Given the description of an element on the screen output the (x, y) to click on. 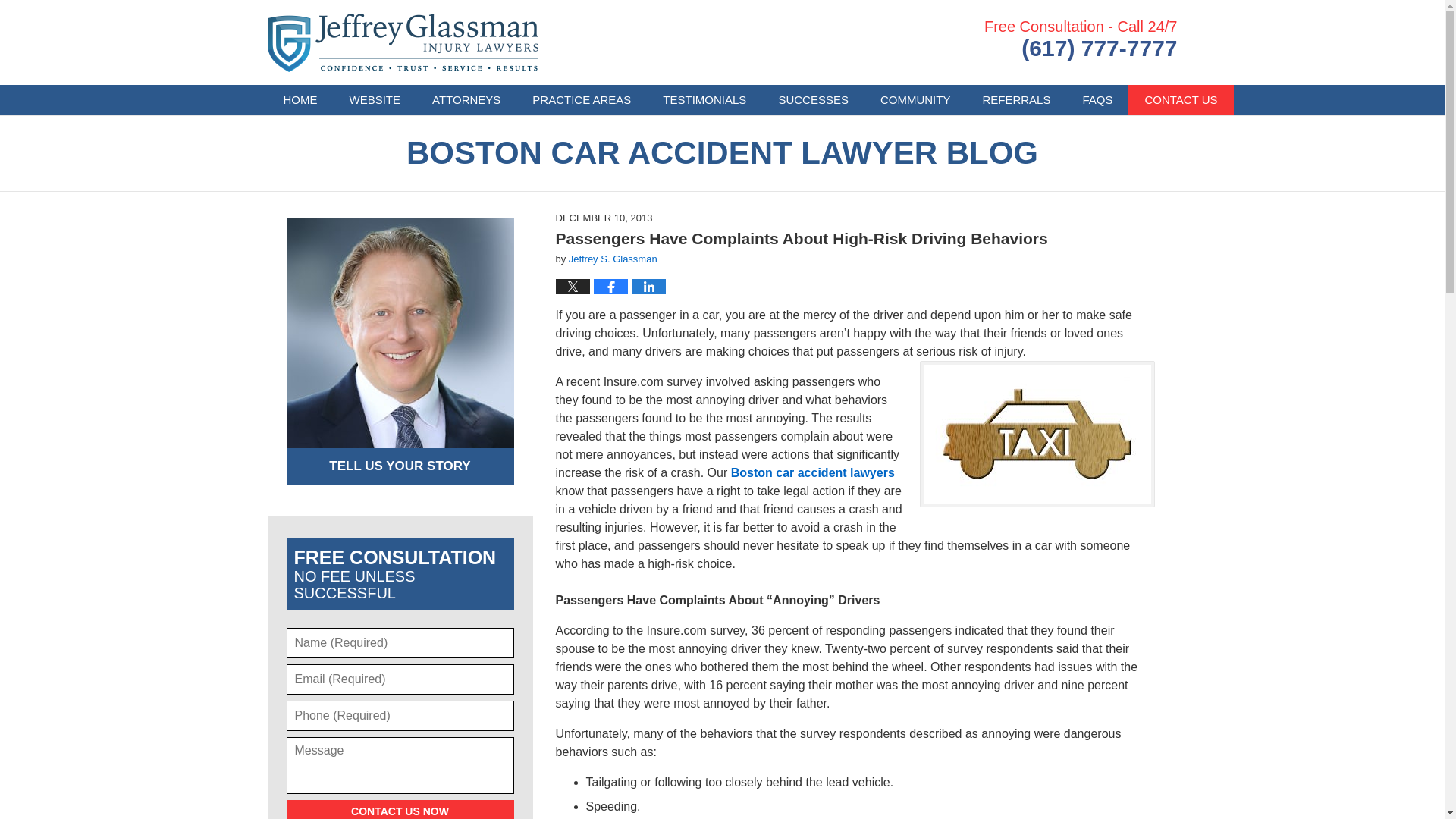
ATTORNEYS (466, 100)
SUCCESSES (812, 100)
FAQS (1096, 100)
TESTIMONIALS (703, 100)
Jeffrey S. Glassman (613, 258)
PRACTICE AREAS (581, 100)
WEBSITE (374, 100)
CONTACT US NOW (399, 809)
HOME (299, 100)
Boston car accident lawyers (812, 472)
COMMUNITY (915, 100)
BOSTON CAR ACCIDENT LAWYER BLOG (722, 152)
Please enter a valid phone number. (399, 716)
Boston Car Accident Lawyer Blog (401, 42)
CONTACT US (1180, 100)
